Given the description of an element on the screen output the (x, y) to click on. 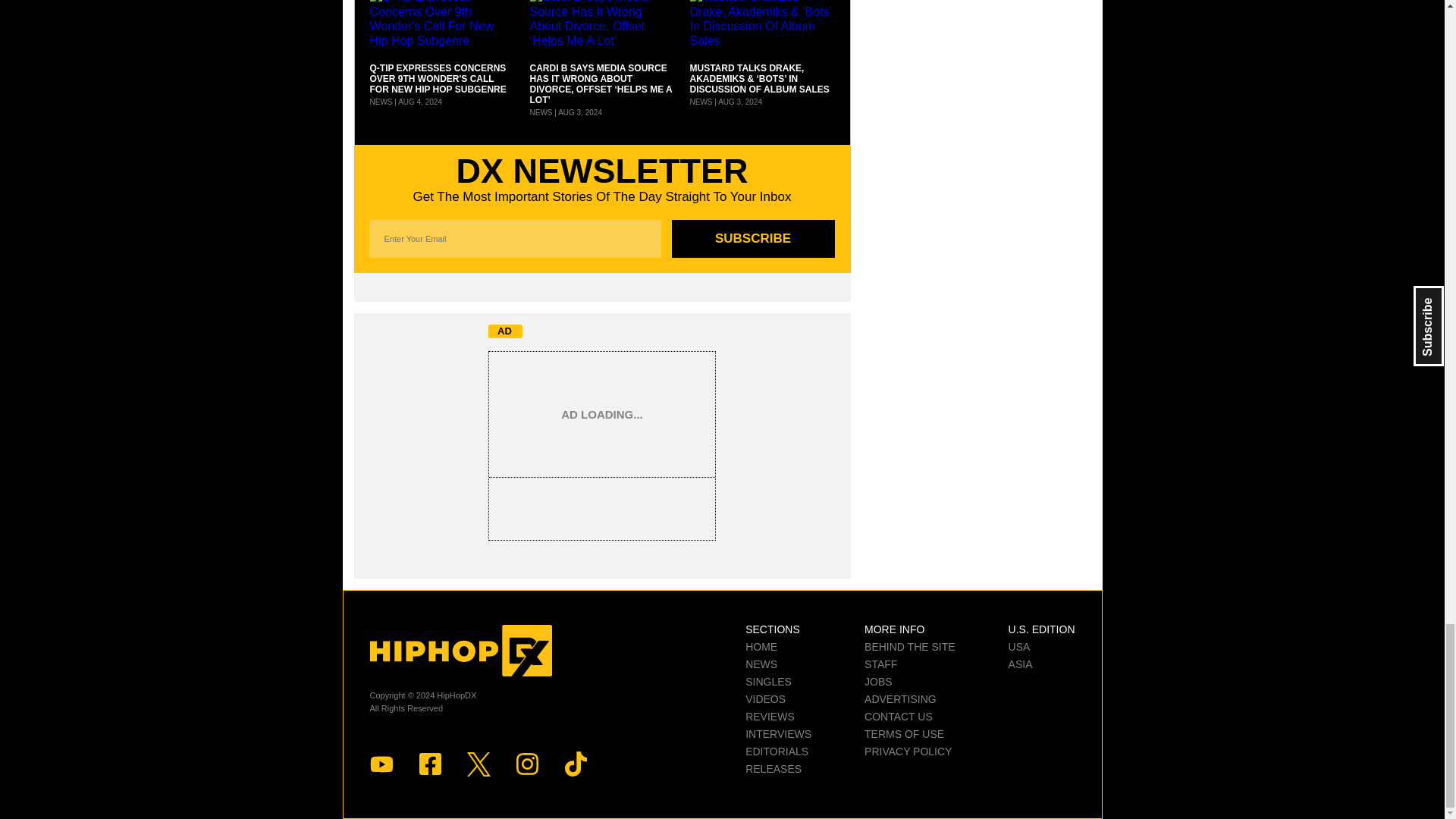
HipHopDX (460, 650)
